Given the description of an element on the screen output the (x, y) to click on. 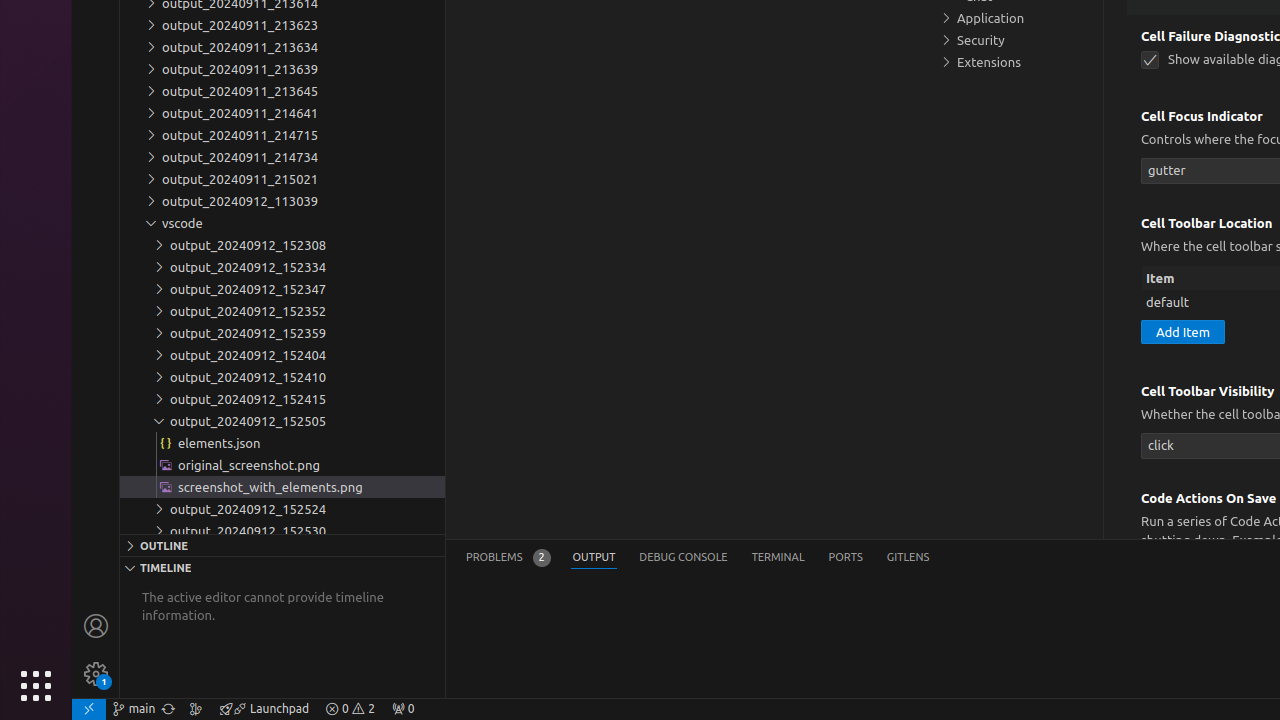
output_20240911_214641 Element type: tree-item (282, 113)
output_20240912_152334 Element type: tree-item (282, 267)
rocket gitlens-unplug Launchpad, GitLens Launchpad ᴘʀᴇᴠɪᴇᴡ    &mdash;    [$(question)](command:gitlens.launchpad.indicator.action?%22info%22 "What is this?") [$(gear)](command:workbench.action.openSettings?%22gitlens.launchpad%22 "Settings")  |  [$(circle-slash) Hide](command:gitlens.launchpad.indicator.action?%22hide%22 "Hide") --- [Launchpad](command:gitlens.launchpad.indicator.action?%info%22 "Learn about Launchpad") organizes your pull requests into actionable groups to help you focus and keep your team unblocked. It's always accessible using the `GitLens: Open Launchpad` command from the Command Palette. --- [Connect an integration](command:gitlens.showLaunchpad?%7B%22source%22%3A%22launchpad-indicator%22%7D "Connect an integration") to get started. Element type: push-button (264, 709)
Debug Console (Ctrl+Shift+Y) Element type: page-tab (683, 557)
vscode Element type: tree-item (282, 223)
